Given the description of an element on the screen output the (x, y) to click on. 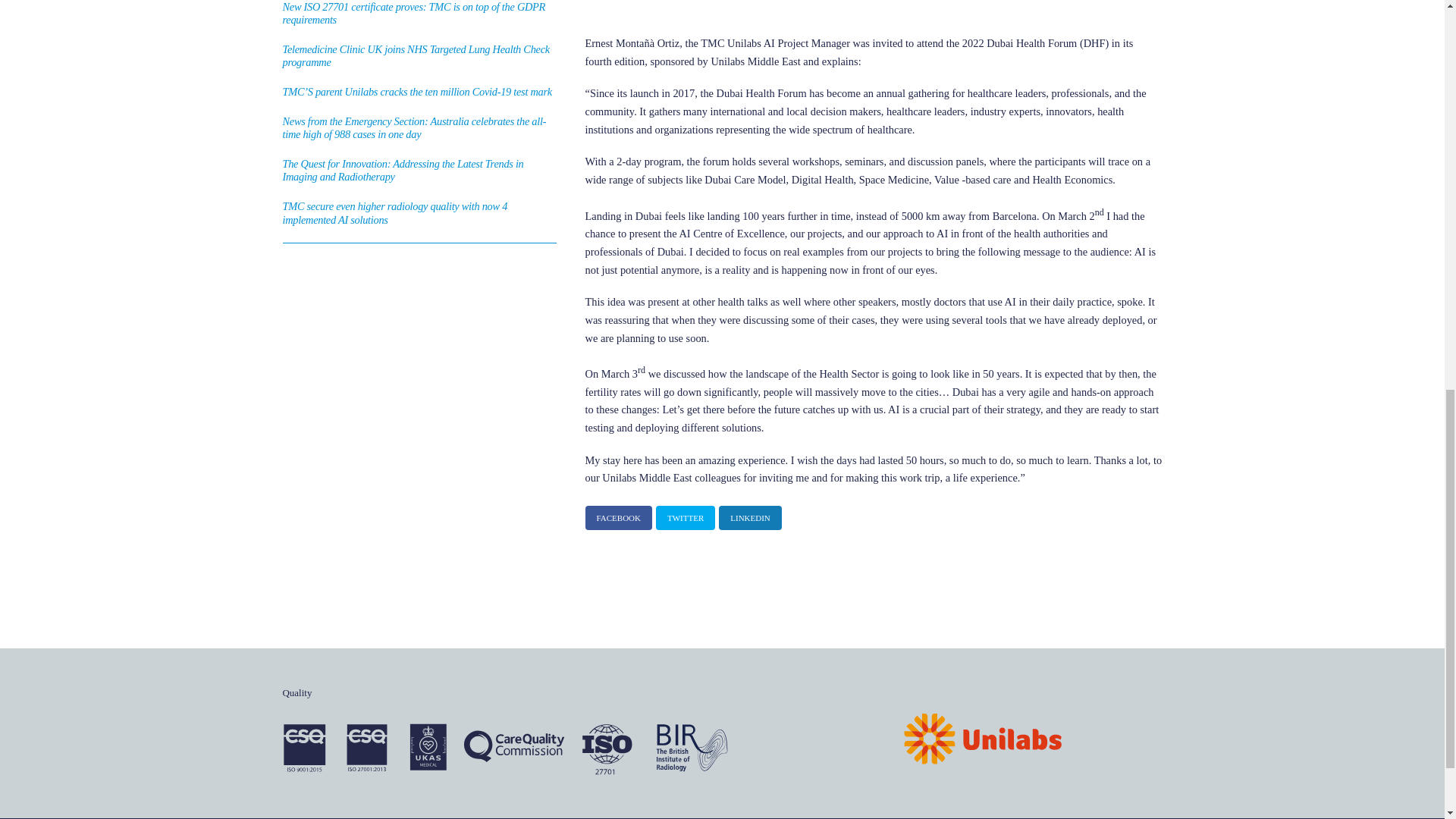
Share on Twitter (685, 517)
Share on LinkedIn (750, 517)
Dubai Health Forum 2022: The future is now (982, 738)
LINKEDIN (750, 517)
FACEBOOK (618, 517)
Dubai Health Forum 2022: The future is now (506, 747)
TWITTER (685, 517)
Quality (296, 692)
Share on Facebook (618, 517)
